Given the description of an element on the screen output the (x, y) to click on. 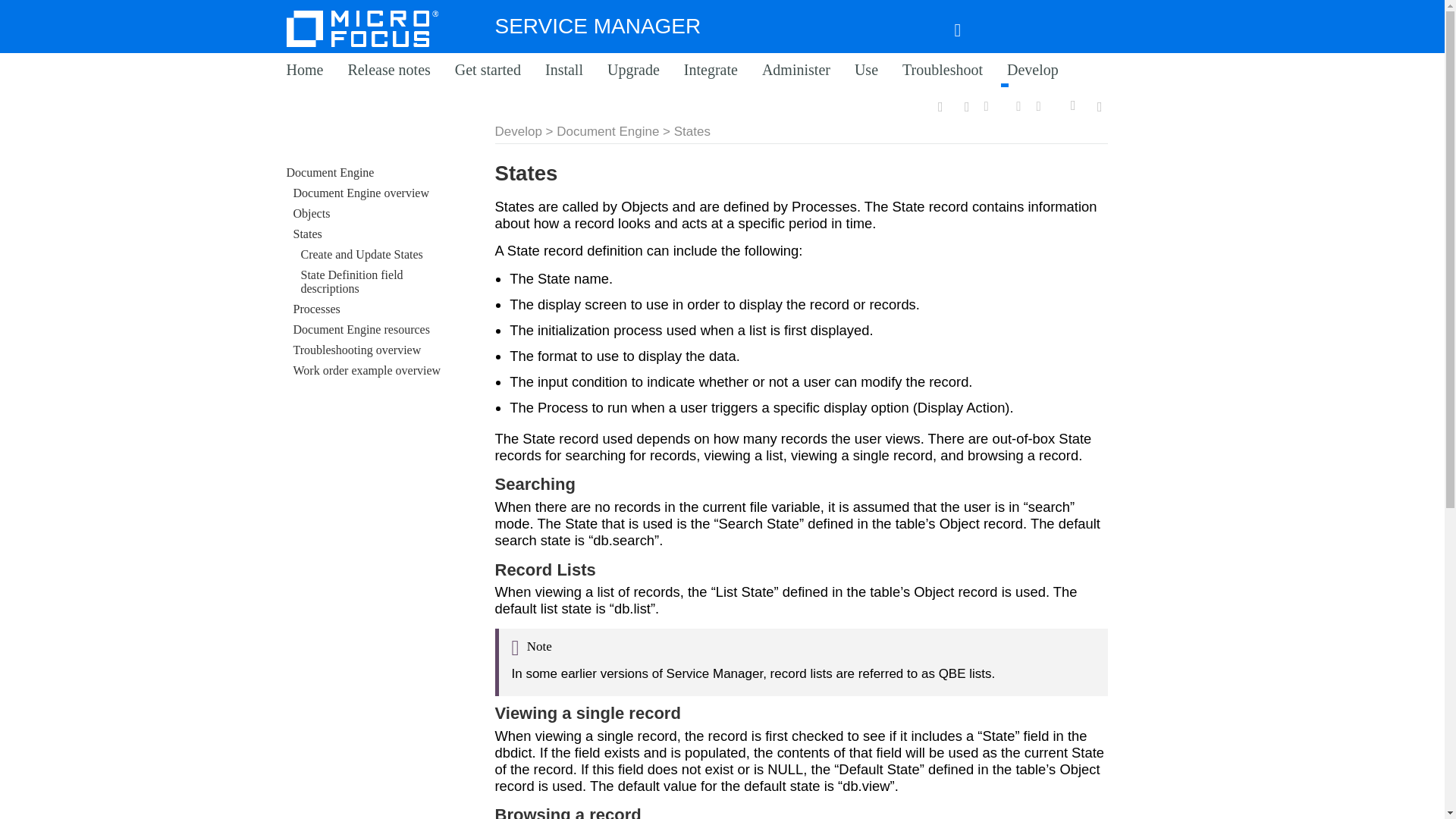
SERVICE MANAGER (597, 26)
Release notes (388, 71)
Home (303, 71)
Get started (487, 71)
Install (564, 71)
